Given the description of an element on the screen output the (x, y) to click on. 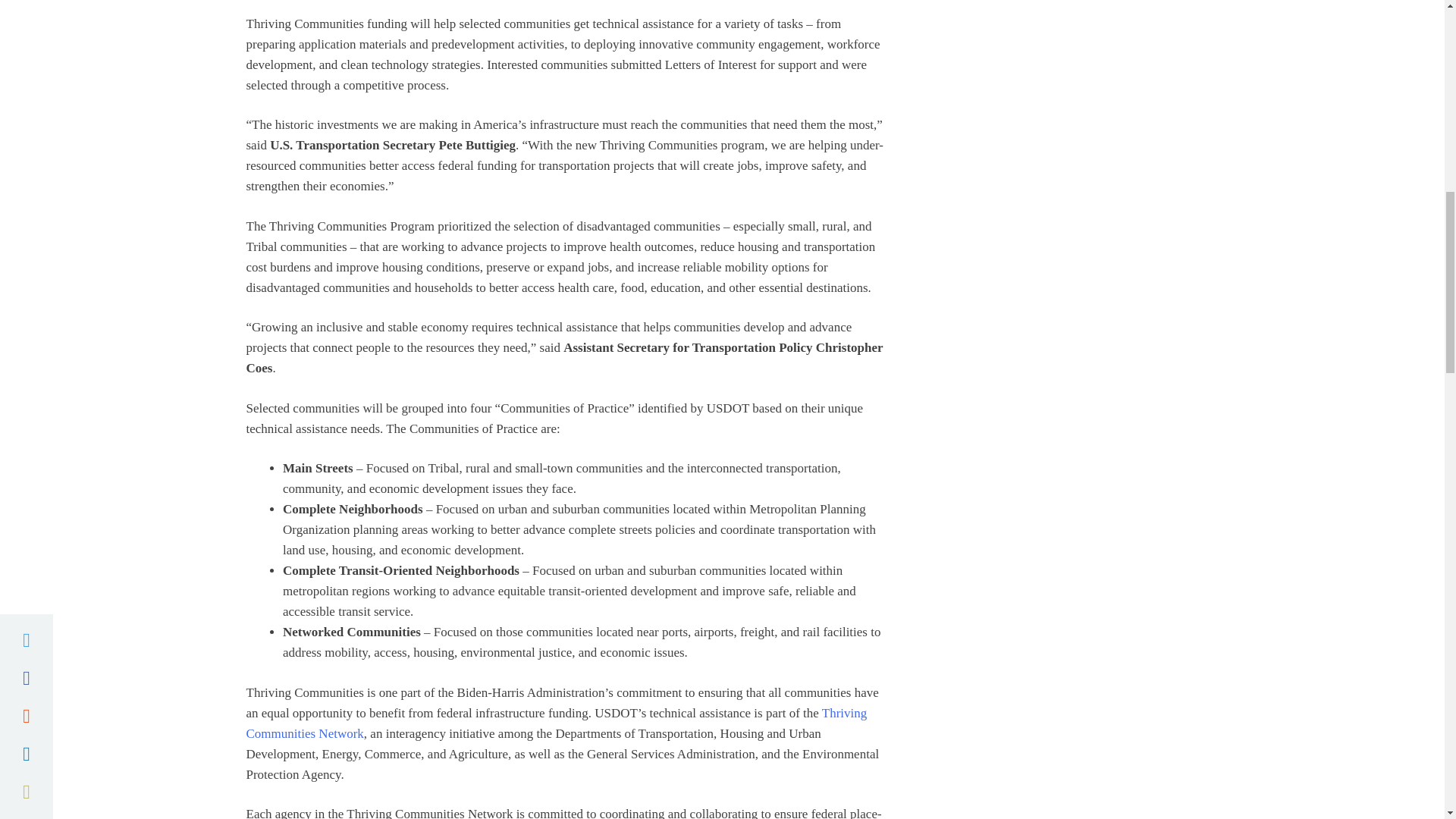
Thriving Communities Network (556, 722)
